Given the description of an element on the screen output the (x, y) to click on. 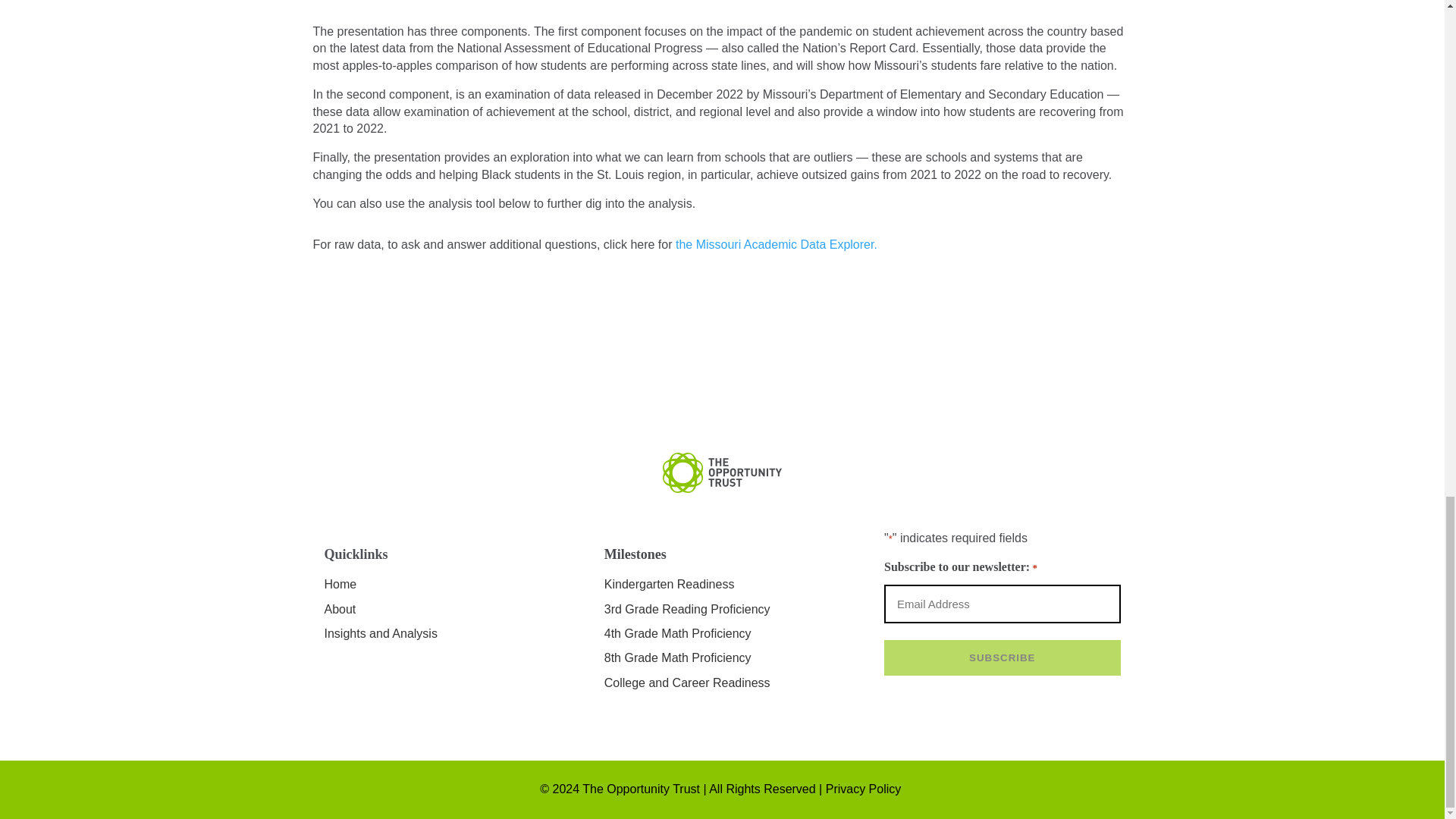
Home (340, 584)
Subscribe (1002, 657)
the Missouri Academic Data Explorer. (776, 244)
Insights and Analysis (381, 633)
Group 35110 (721, 472)
About (340, 608)
Kindergarten Readiness (669, 584)
